Given the description of an element on the screen output the (x, y) to click on. 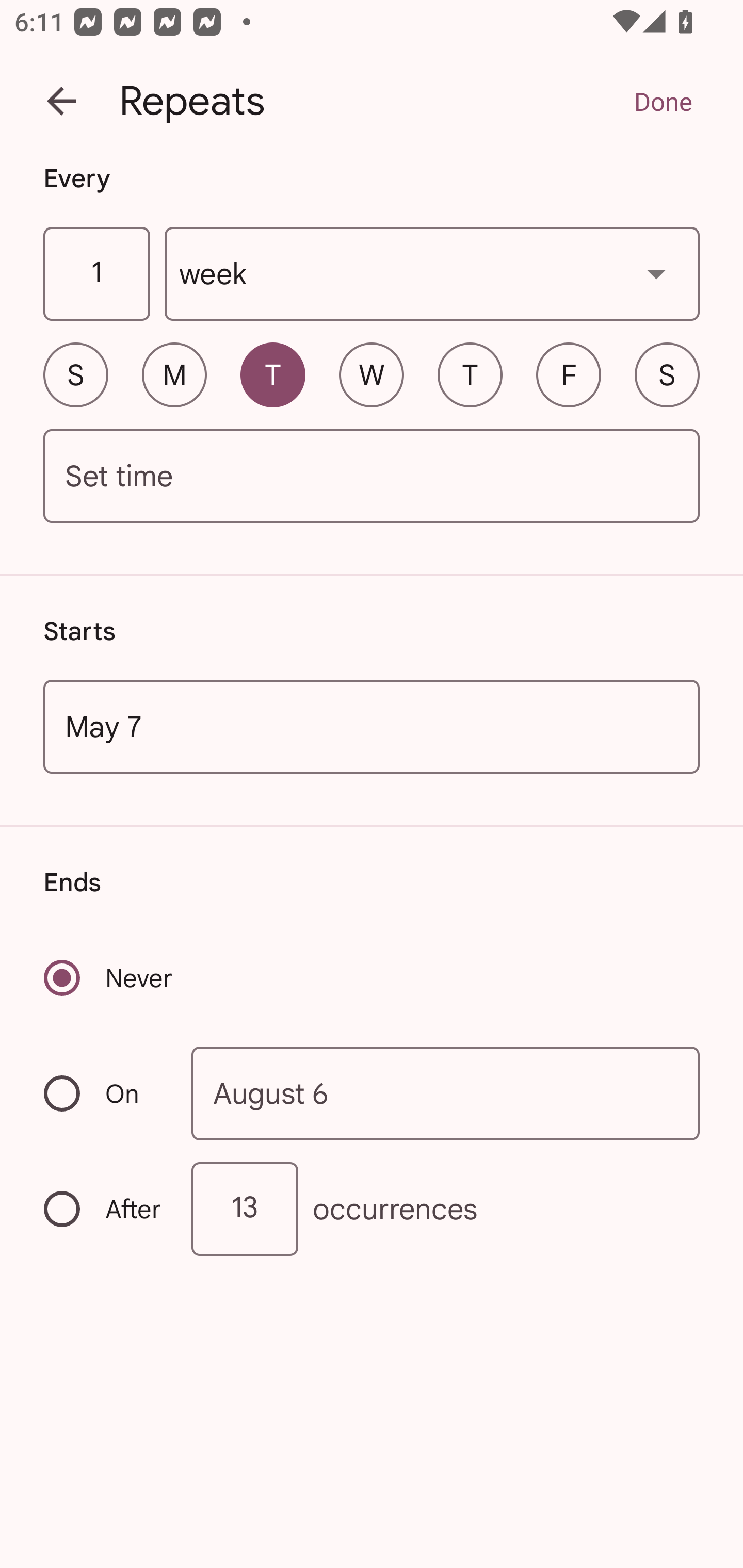
Back (61, 101)
Done (663, 101)
1 (96, 274)
week (431, 274)
Show dropdown menu (655, 273)
S Sunday (75, 374)
M Monday (173, 374)
T Tuesday, selected (272, 374)
W Wednesday (371, 374)
T Thursday (469, 374)
F Friday (568, 374)
S Saturday (666, 374)
Set time (371, 476)
May 7 (371, 726)
Never Recurrence never ends (109, 978)
August 6 (445, 1092)
On Recurrence ends on a specific date (104, 1093)
13 (244, 1208)
